Given the description of an element on the screen output the (x, y) to click on. 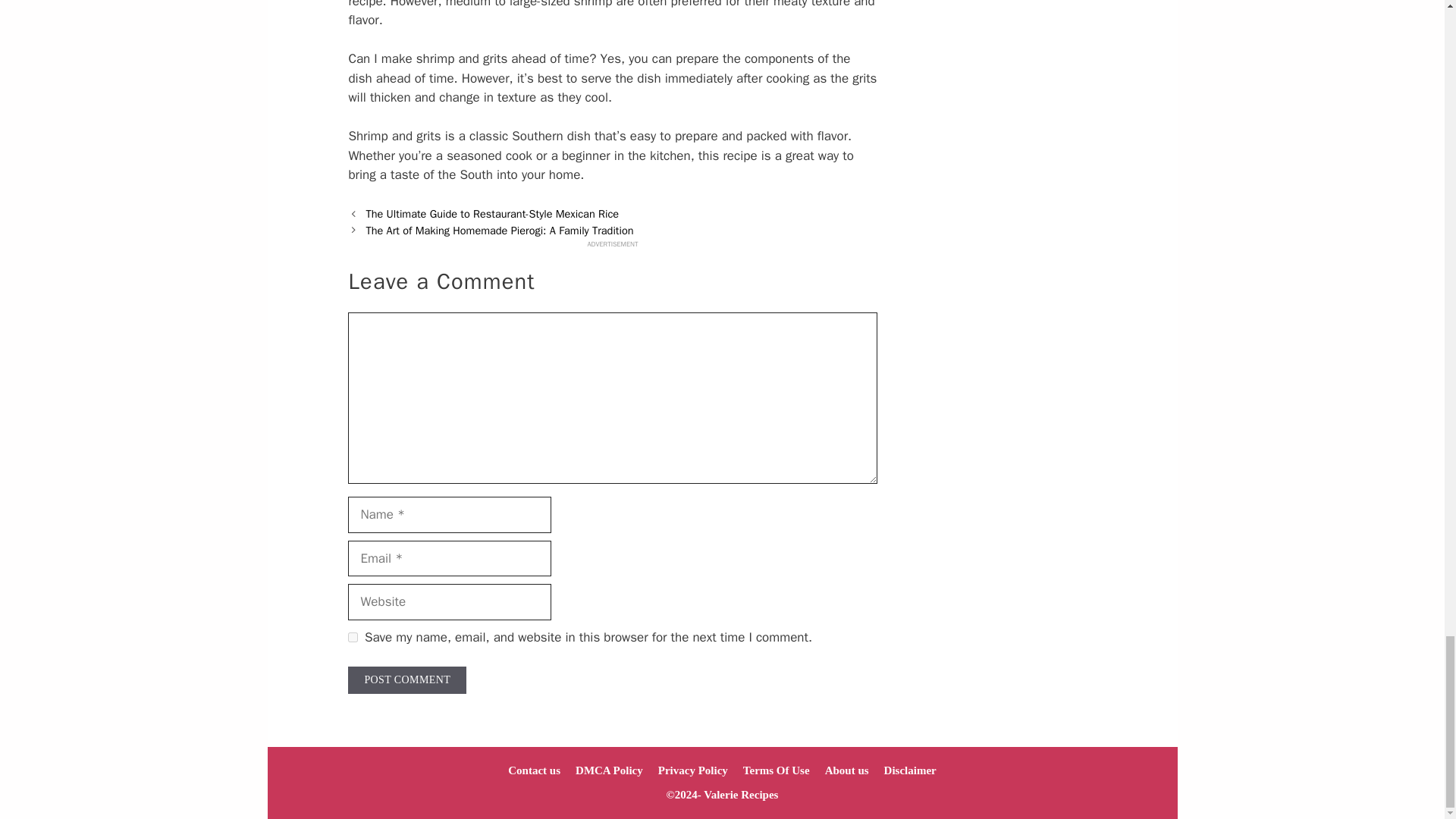
yes (352, 637)
The Art of Making Homemade Pierogi: A Family Tradition (499, 230)
Post Comment (406, 679)
The Ultimate Guide to Restaurant-Style Mexican Rice (491, 213)
Post Comment (406, 679)
